Given the description of an element on the screen output the (x, y) to click on. 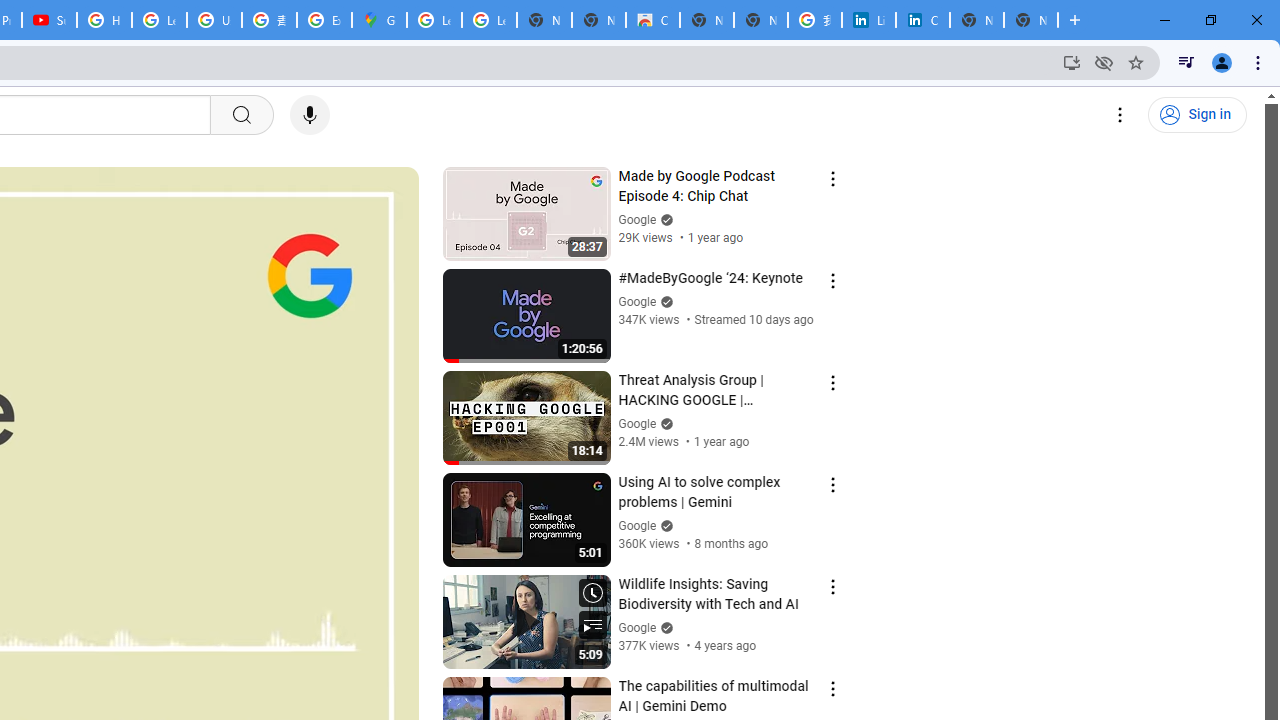
Copyright Policy (922, 20)
Google Maps (379, 20)
New Tab (1030, 20)
Verified (664, 627)
Chrome Web Store (652, 20)
Explore new street-level details - Google Maps Help (324, 20)
